Given the description of an element on the screen output the (x, y) to click on. 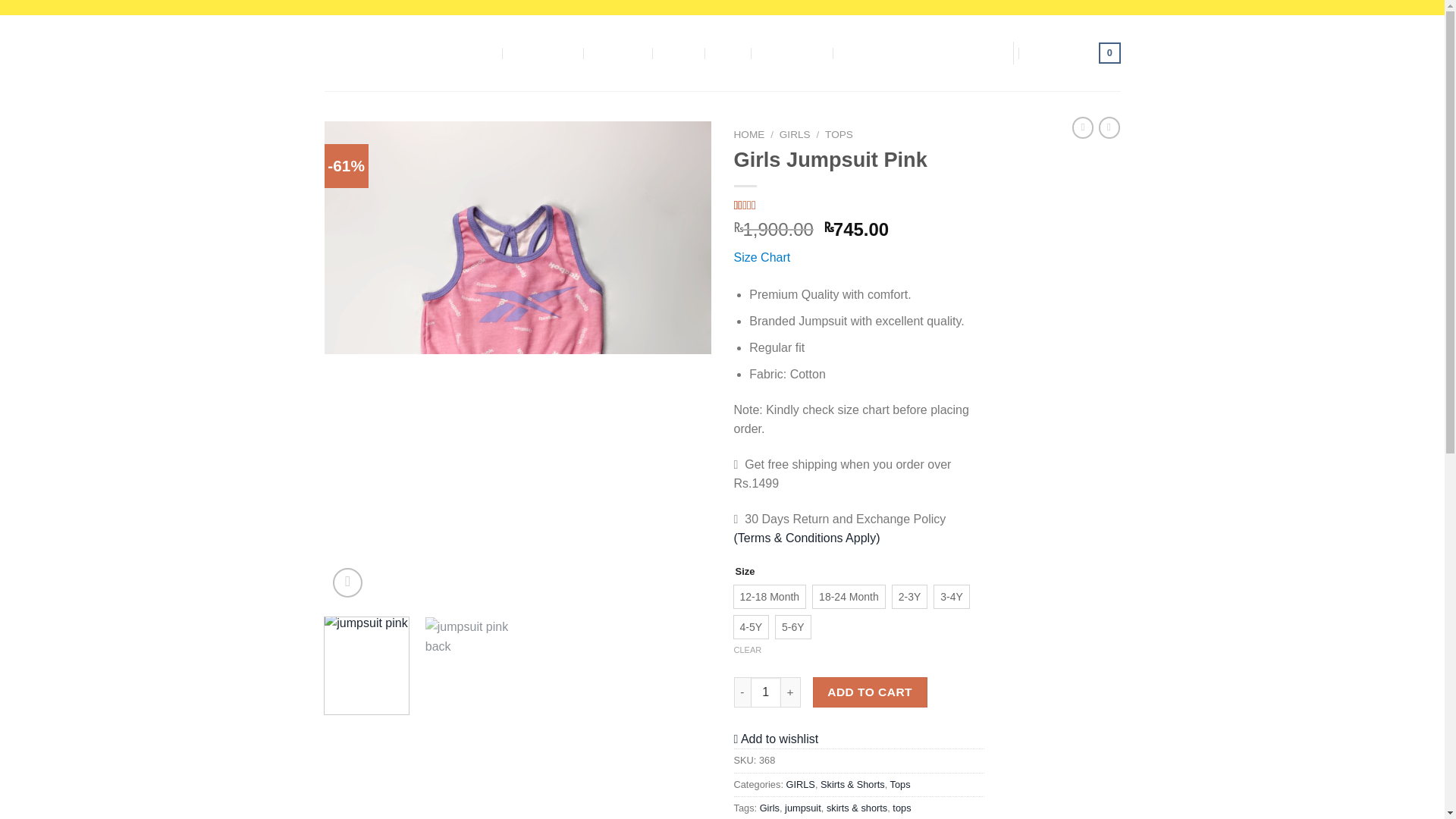
POPSTRIPES (543, 52)
Cart (1073, 52)
Zoom (347, 582)
2-3 Year (909, 596)
SHOP (679, 52)
1 (765, 692)
12-18 Month (769, 596)
3-4 Year (951, 596)
Best Online Shopping Pakistan - Quality Savings Guranteed (392, 52)
4-5 Year (750, 626)
